Given the description of an element on the screen output the (x, y) to click on. 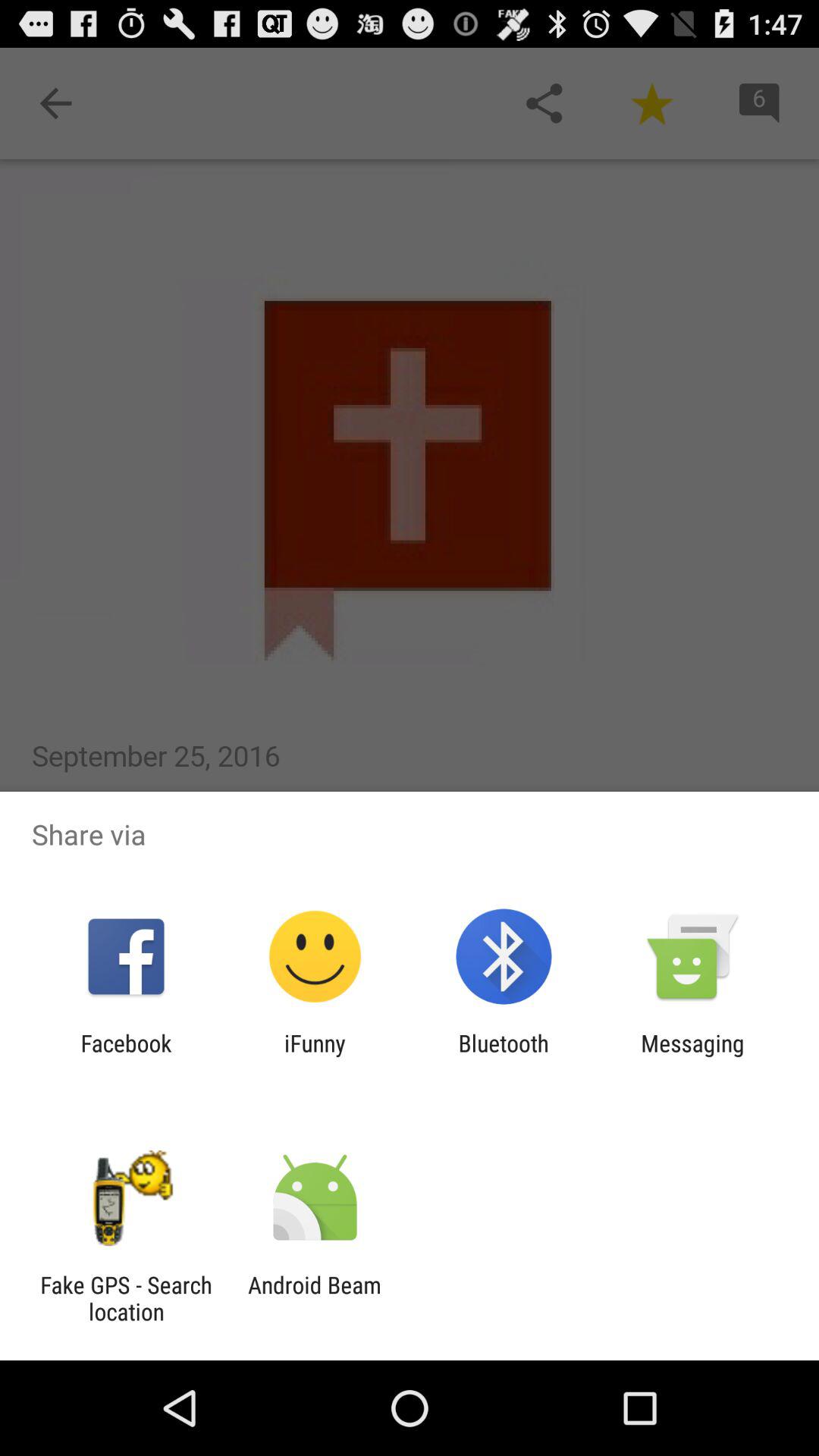
tap the icon to the left of the bluetooth app (314, 1056)
